Given the description of an element on the screen output the (x, y) to click on. 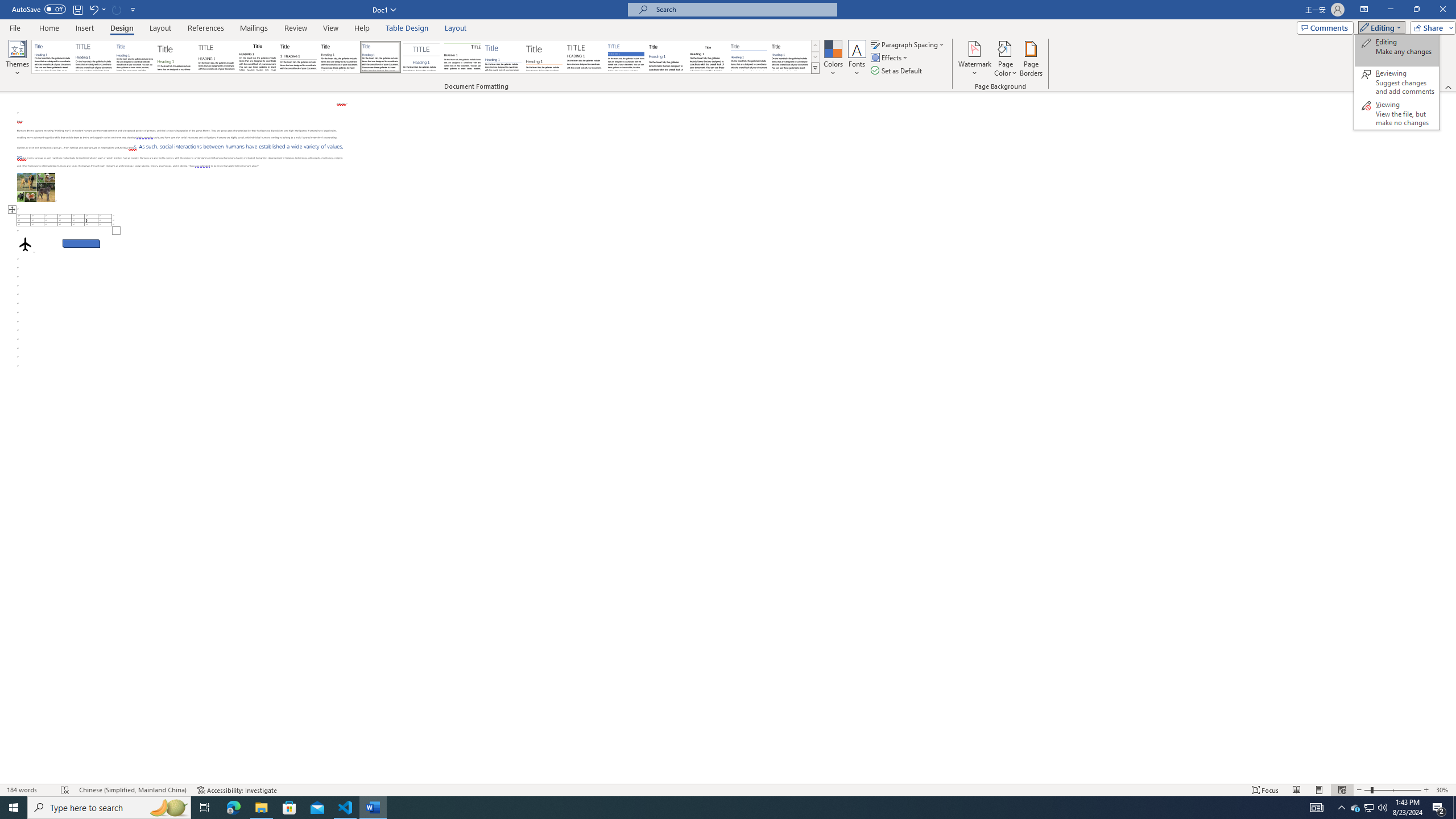
Word - 1 running window (373, 807)
Centered (421, 56)
Word 2010 (749, 56)
Lines (Simple) (503, 56)
Word (666, 56)
